Given the description of an element on the screen output the (x, y) to click on. 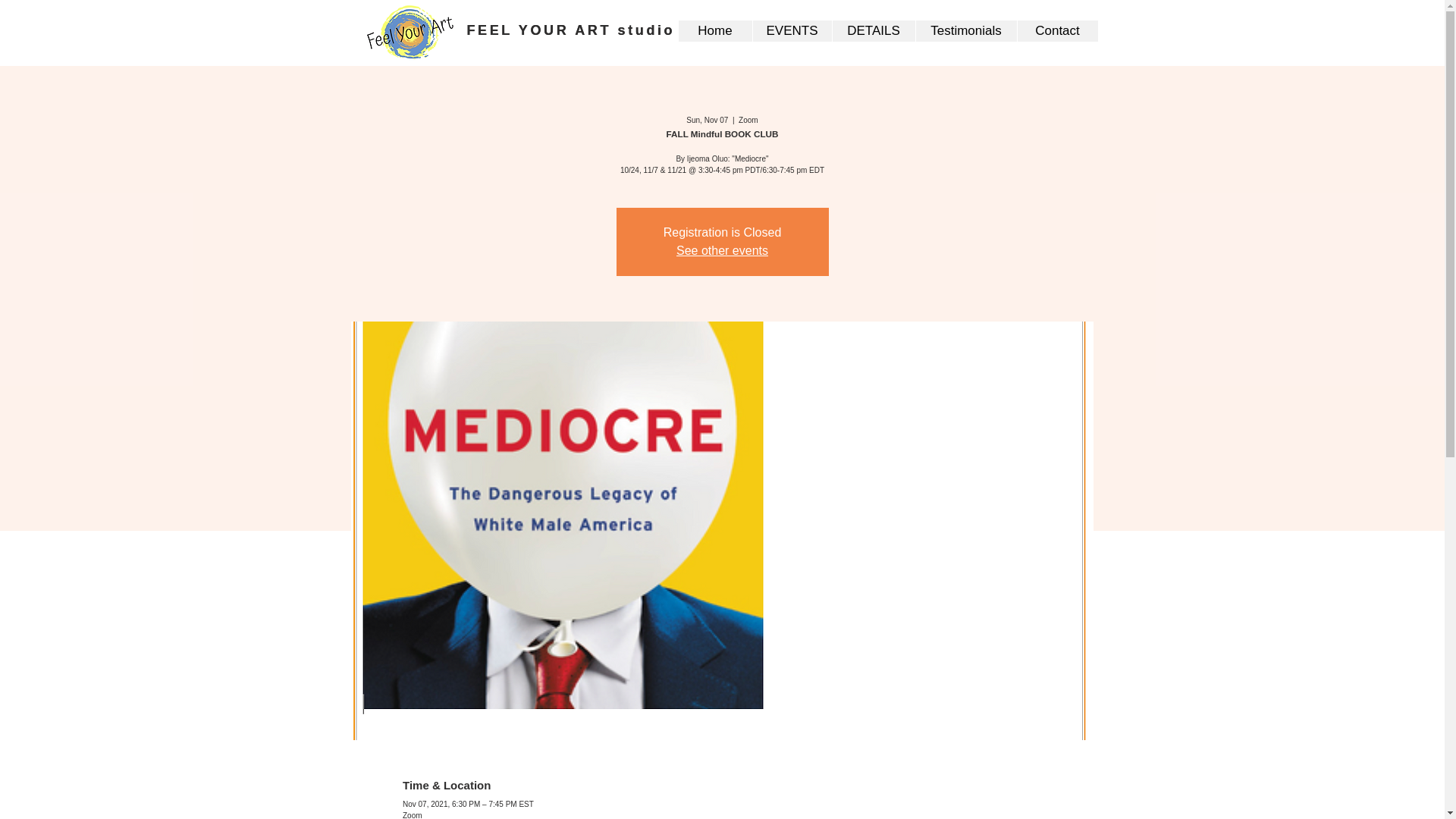
See other events (722, 250)
Contact (1056, 30)
Home (714, 30)
EVENTS (791, 30)
FEEL YOUR ART studio (571, 29)
Testimonials (965, 30)
DETAILS (872, 30)
